Given the description of an element on the screen output the (x, y) to click on. 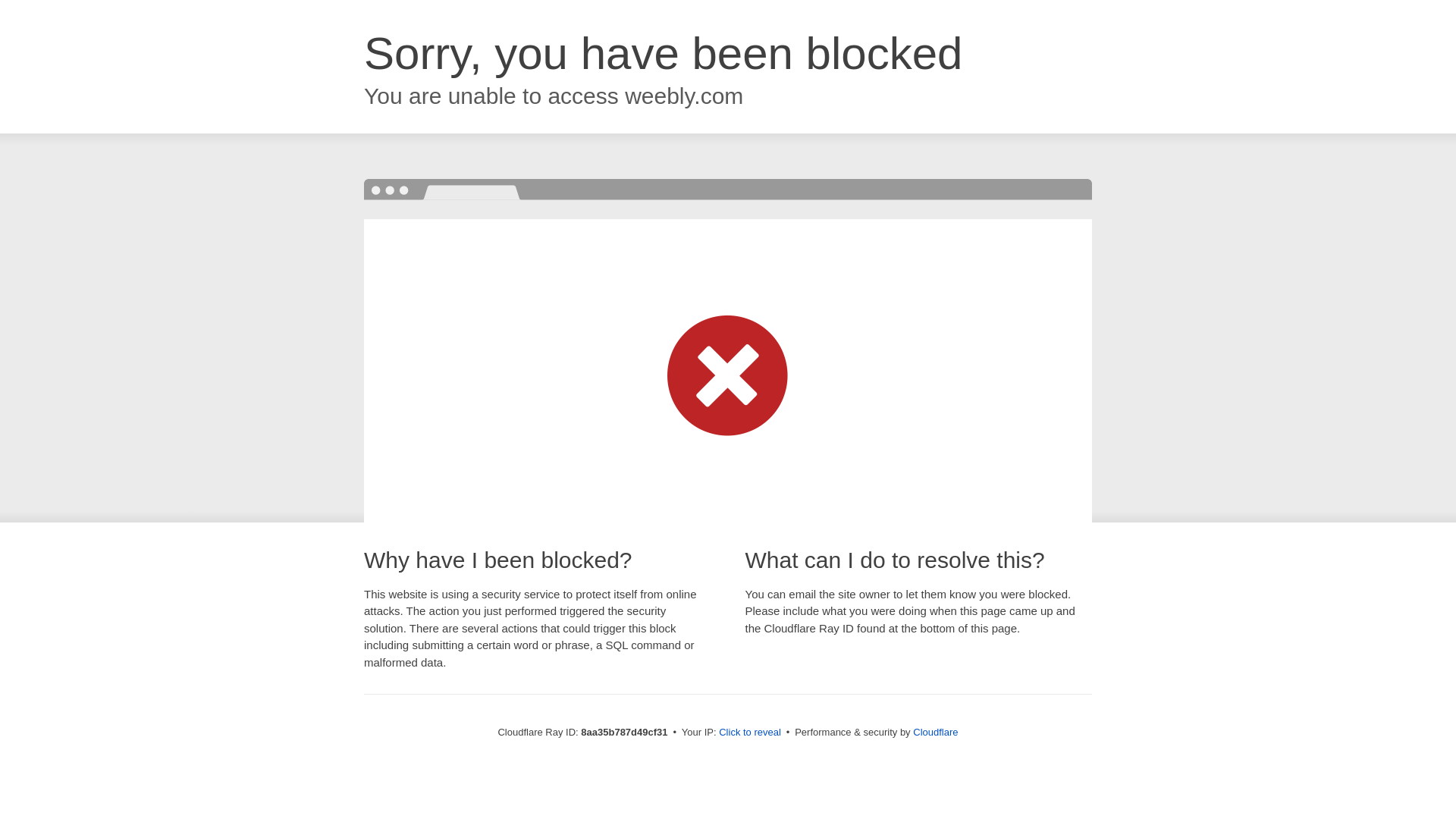
Cloudflare (935, 731)
Click to reveal (749, 732)
